Given the description of an element on the screen output the (x, y) to click on. 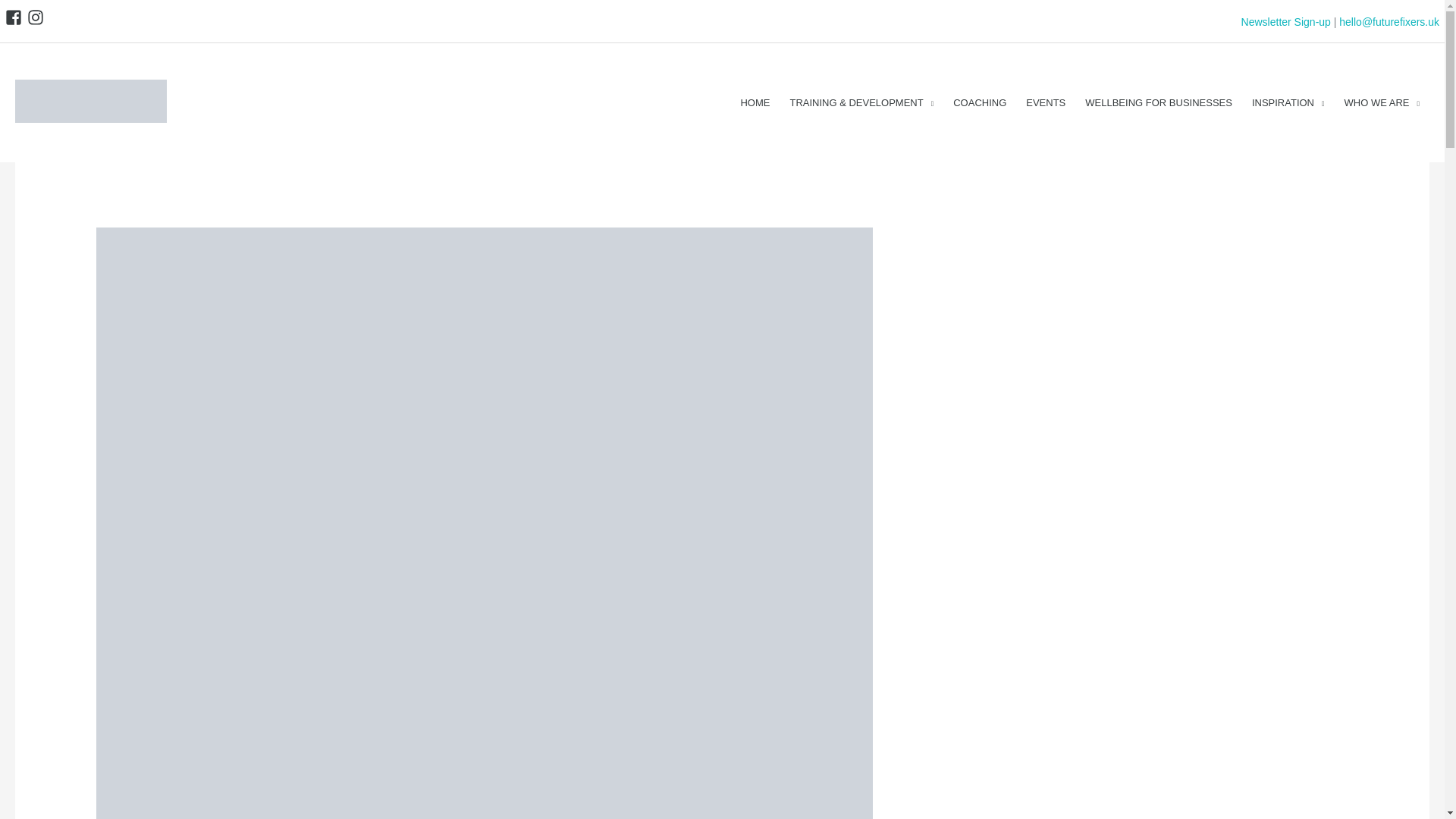
WHO WE ARE (1382, 102)
Newsletter Sign-up (1285, 21)
COACHING (979, 102)
WELLBEING FOR BUSINESSES (1158, 102)
INSPIRATION (1288, 102)
